Given the description of an element on the screen output the (x, y) to click on. 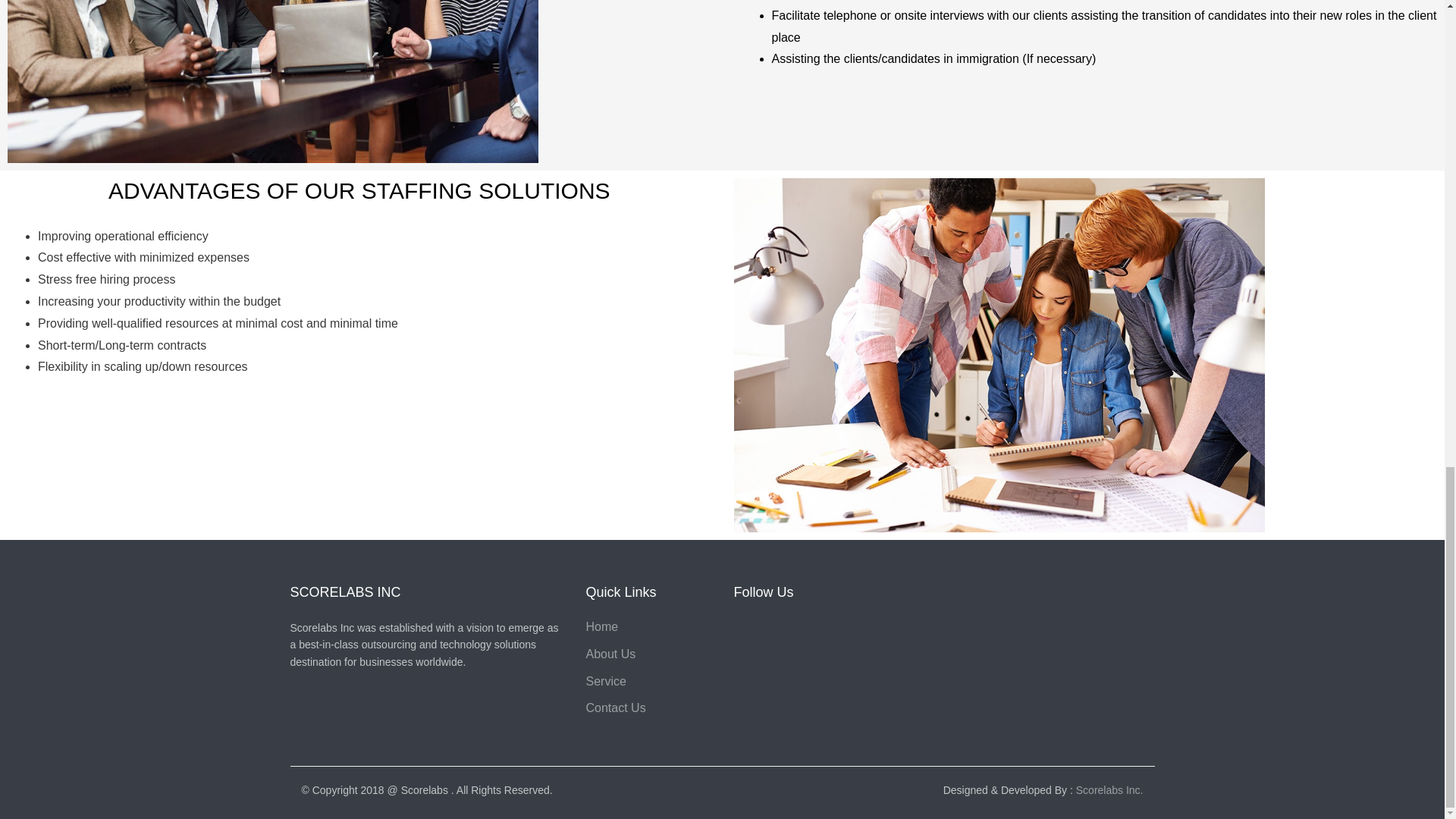
Contact Us (615, 707)
Service (605, 680)
Home (601, 626)
About Us (609, 653)
Scorelabs Inc. (1108, 789)
